Given the description of an element on the screen output the (x, y) to click on. 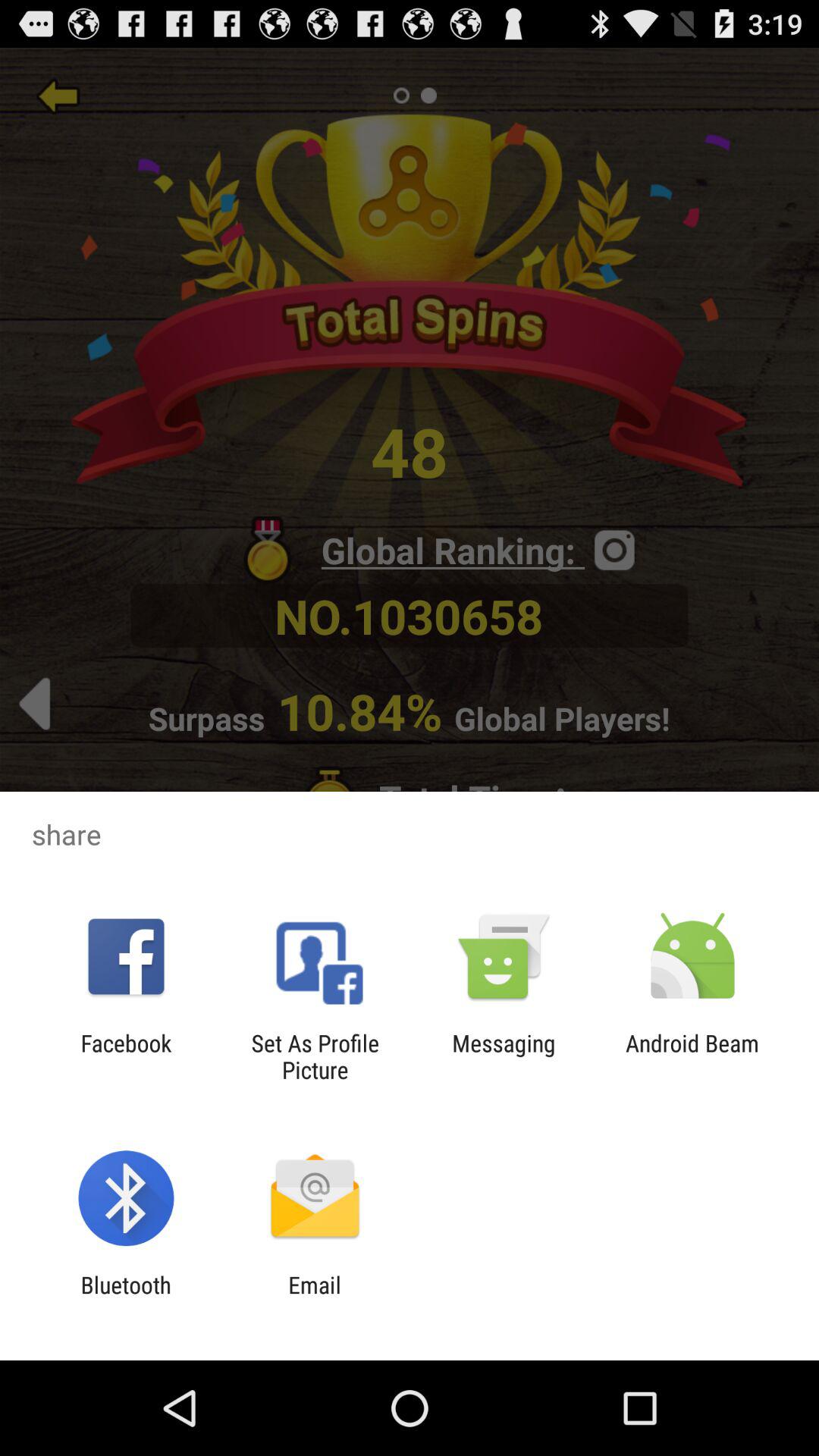
turn off app to the left of set as profile icon (125, 1056)
